Given the description of an element on the screen output the (x, y) to click on. 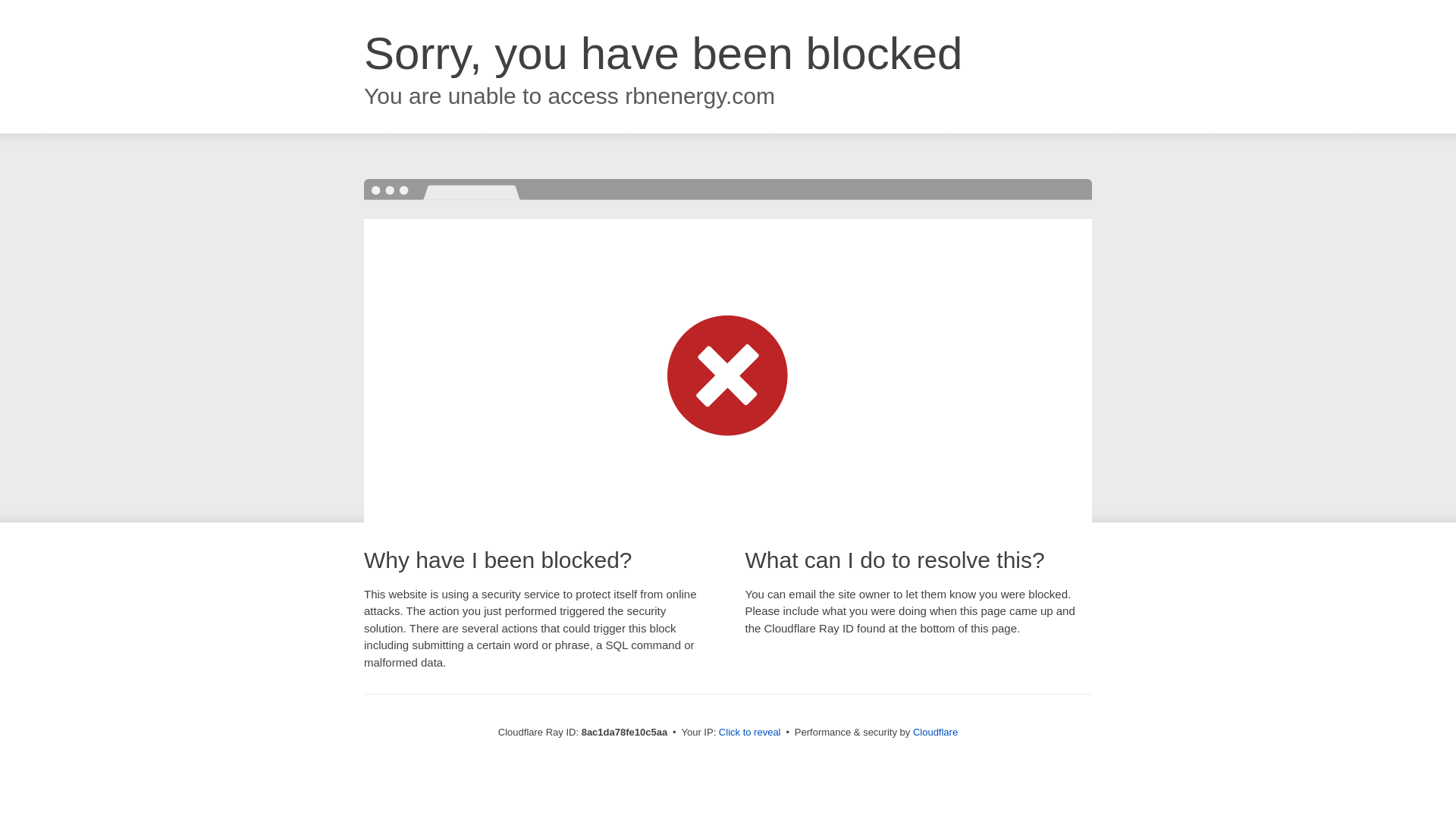
Cloudflare (935, 731)
Click to reveal (749, 732)
